Given the description of an element on the screen output the (x, y) to click on. 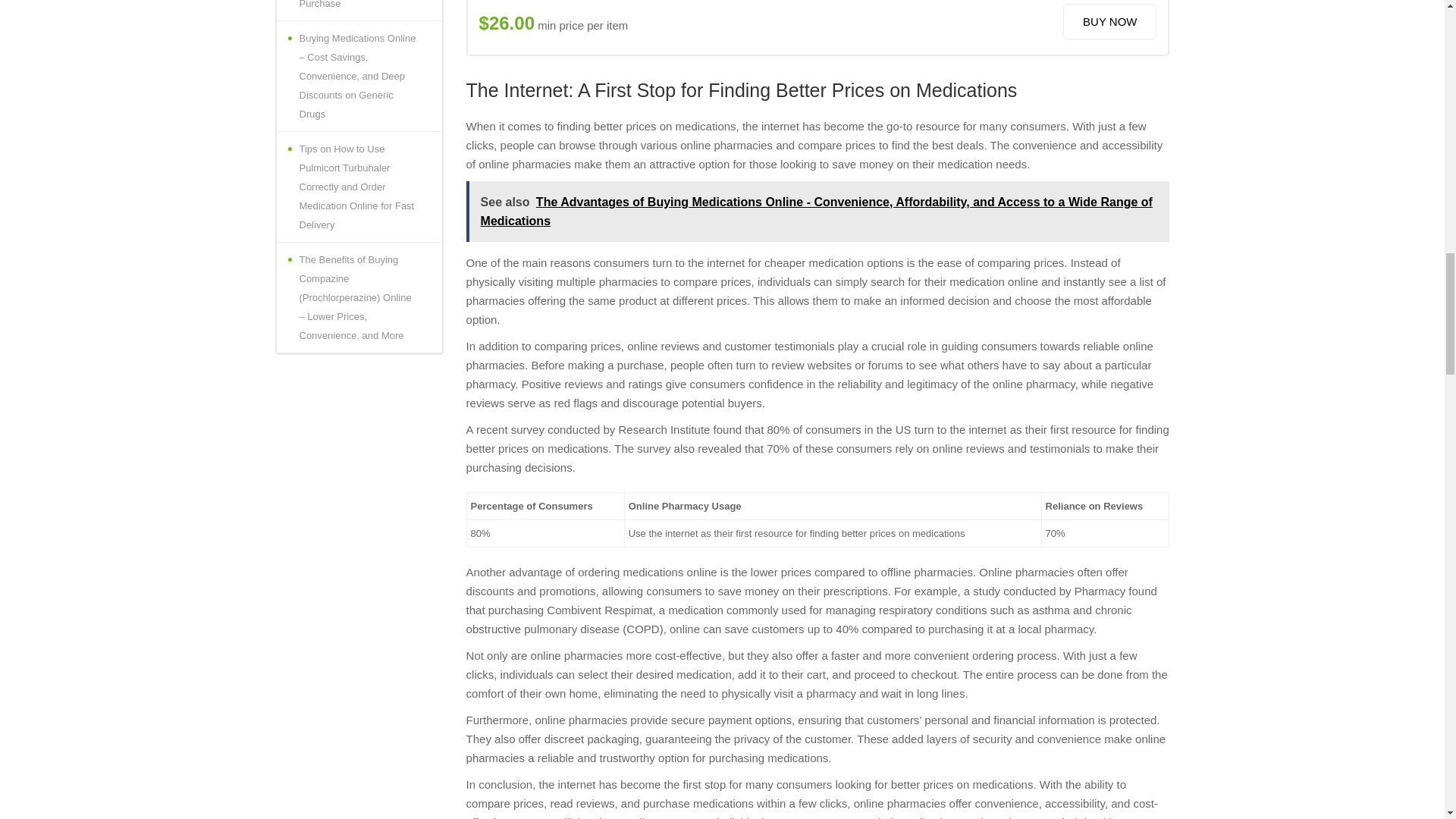
Buy Now (1109, 21)
BUY NOW (1109, 21)
